Given the description of an element on the screen output the (x, y) to click on. 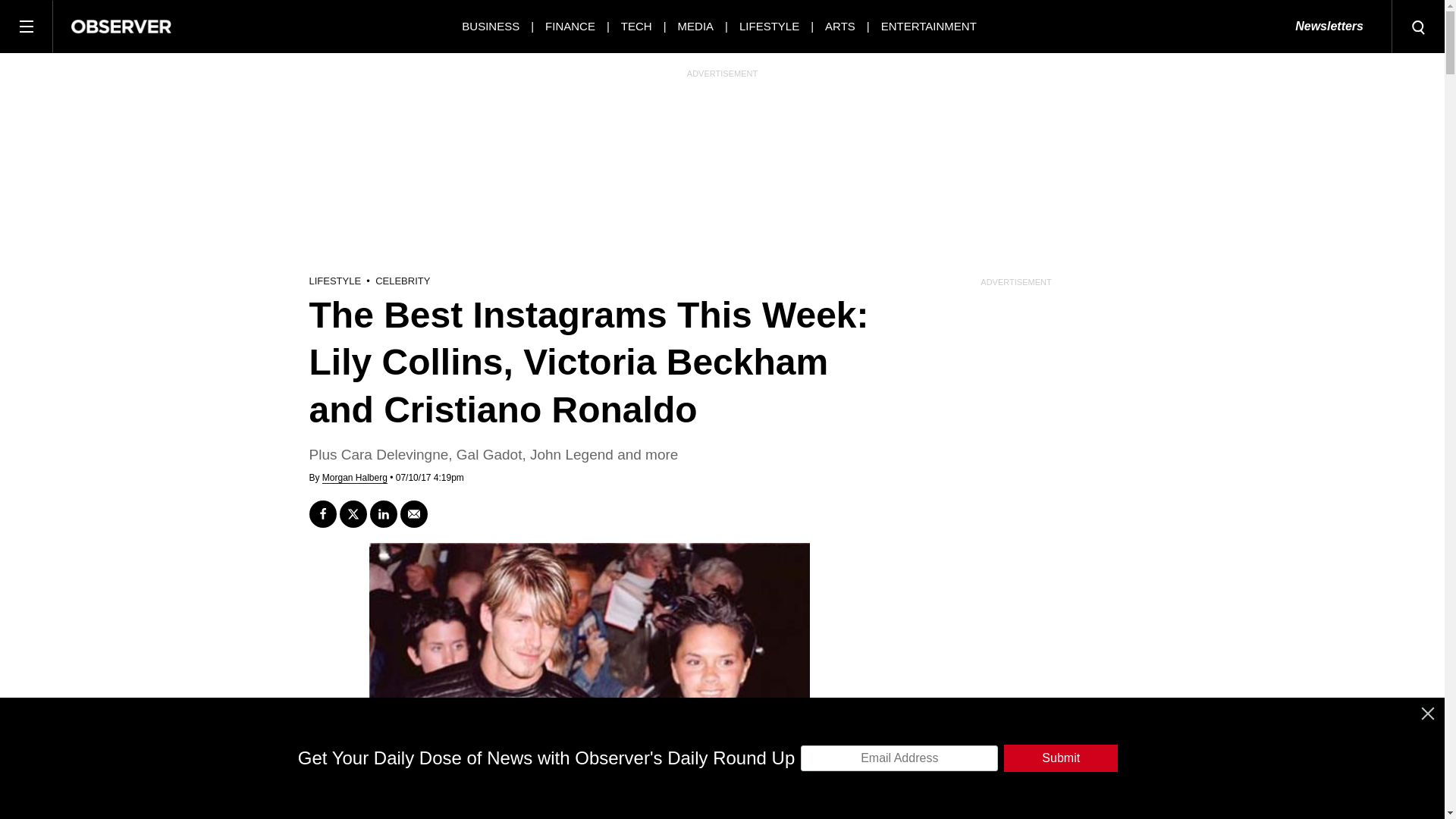
TECH (636, 25)
View All Posts by Morgan Halberg (354, 478)
Share on Facebook (322, 513)
Share on LinkedIn (383, 513)
Newsletters (1329, 26)
MEDIA (696, 25)
Observer (121, 26)
FINANCE (569, 25)
Tweet (352, 513)
ARTS (840, 25)
LIFESTYLE (769, 25)
ENTERTAINMENT (928, 25)
BUSINESS (490, 25)
Send email (414, 513)
